Given the description of an element on the screen output the (x, y) to click on. 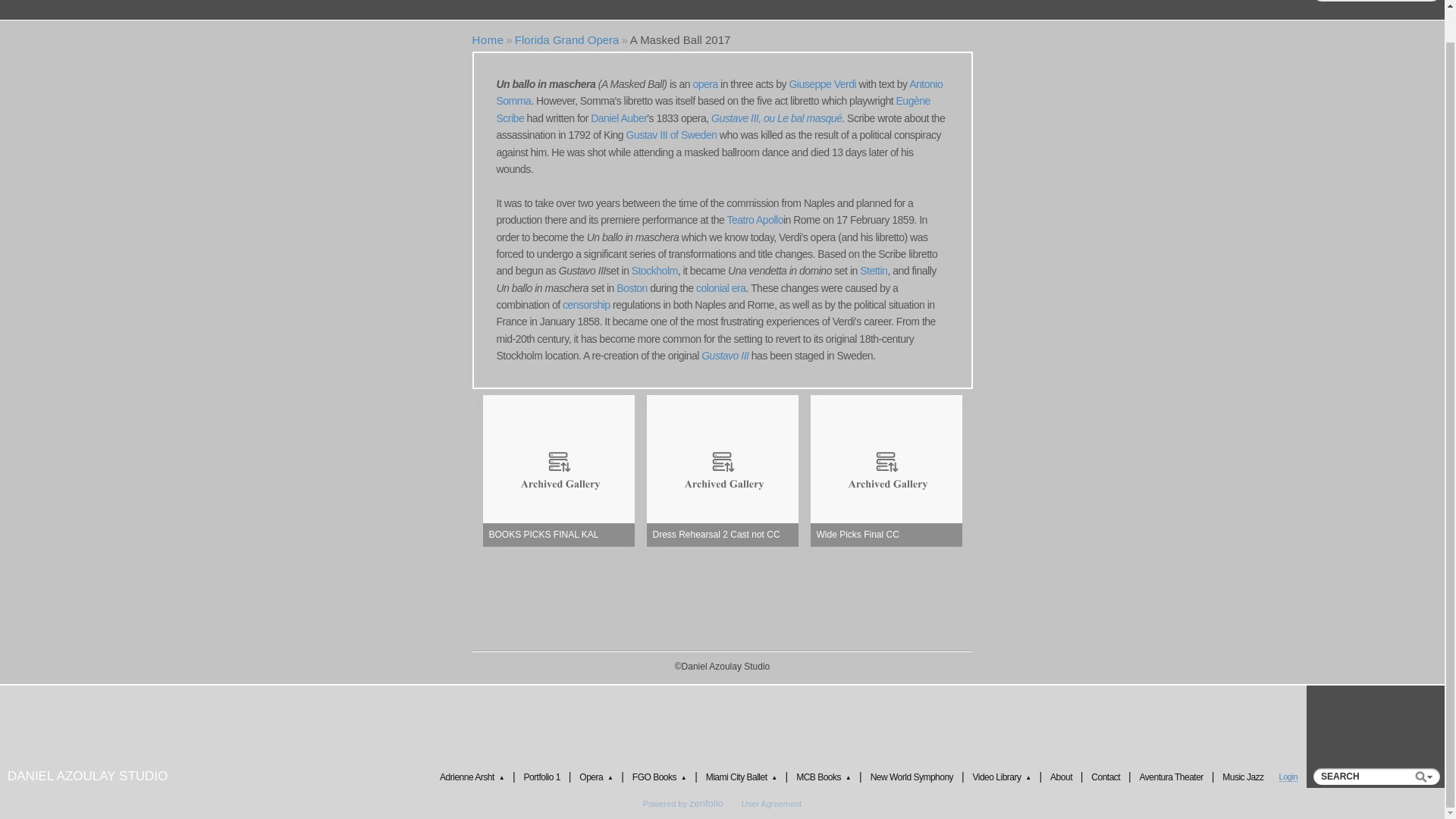
Portfolio 1 (312, 2)
SEARCH (1376, 0)
SEARCH (1376, 776)
SEARCH (1376, 776)
Daniel Azoulay Studio (487, 39)
SEARCH (1376, 0)
Daniel Azoulay Studio (87, 775)
